Given the description of an element on the screen output the (x, y) to click on. 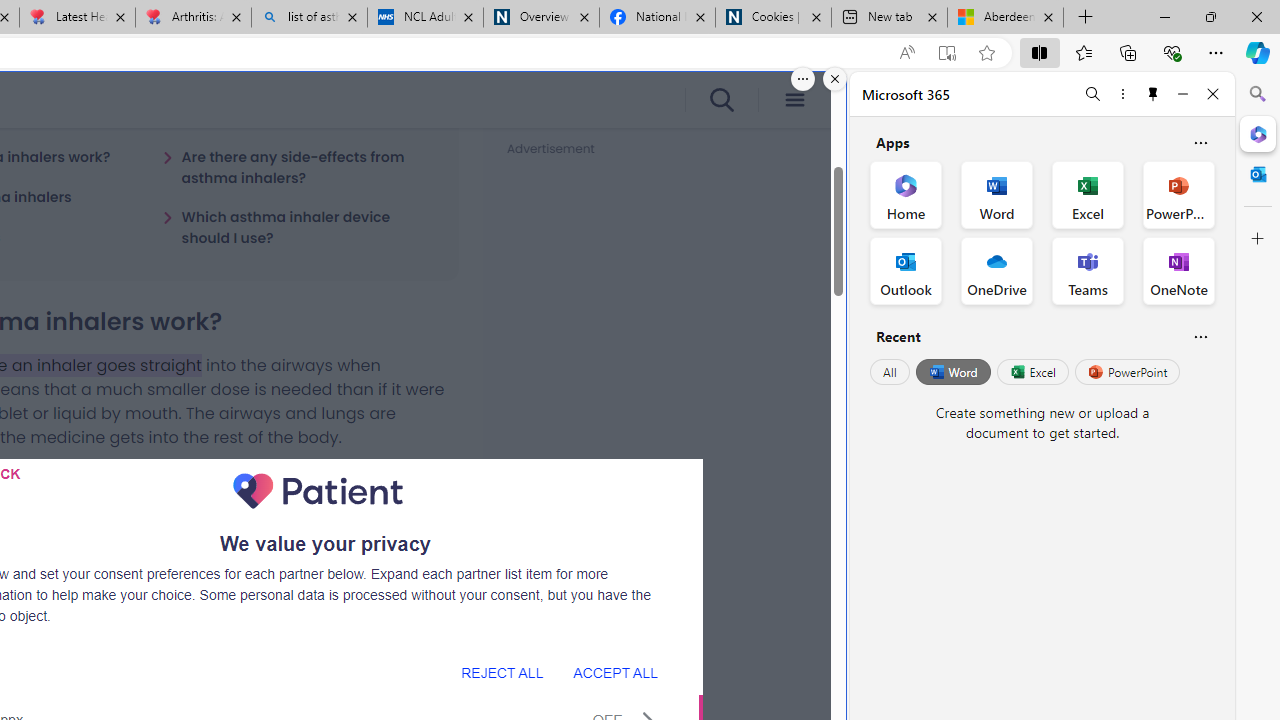
Favorites (1083, 52)
Outlook Office App (906, 270)
Aberdeen, Hong Kong SAR hourly forecast | Microsoft Weather (1005, 17)
Which asthma inhaler device should I use? (298, 227)
Copilot (Ctrl+Shift+.) (1258, 52)
Publisher Logo (317, 491)
Cookies | About | NICE (772, 17)
Browser essentials (1171, 52)
Close Outlook pane (1258, 174)
Search (1258, 94)
More options (1122, 93)
Excel Office App (1087, 194)
NCL Adult Asthma Inhaler Choice Guideline (424, 17)
OneNote Office App (1178, 270)
